Given the description of an element on the screen output the (x, y) to click on. 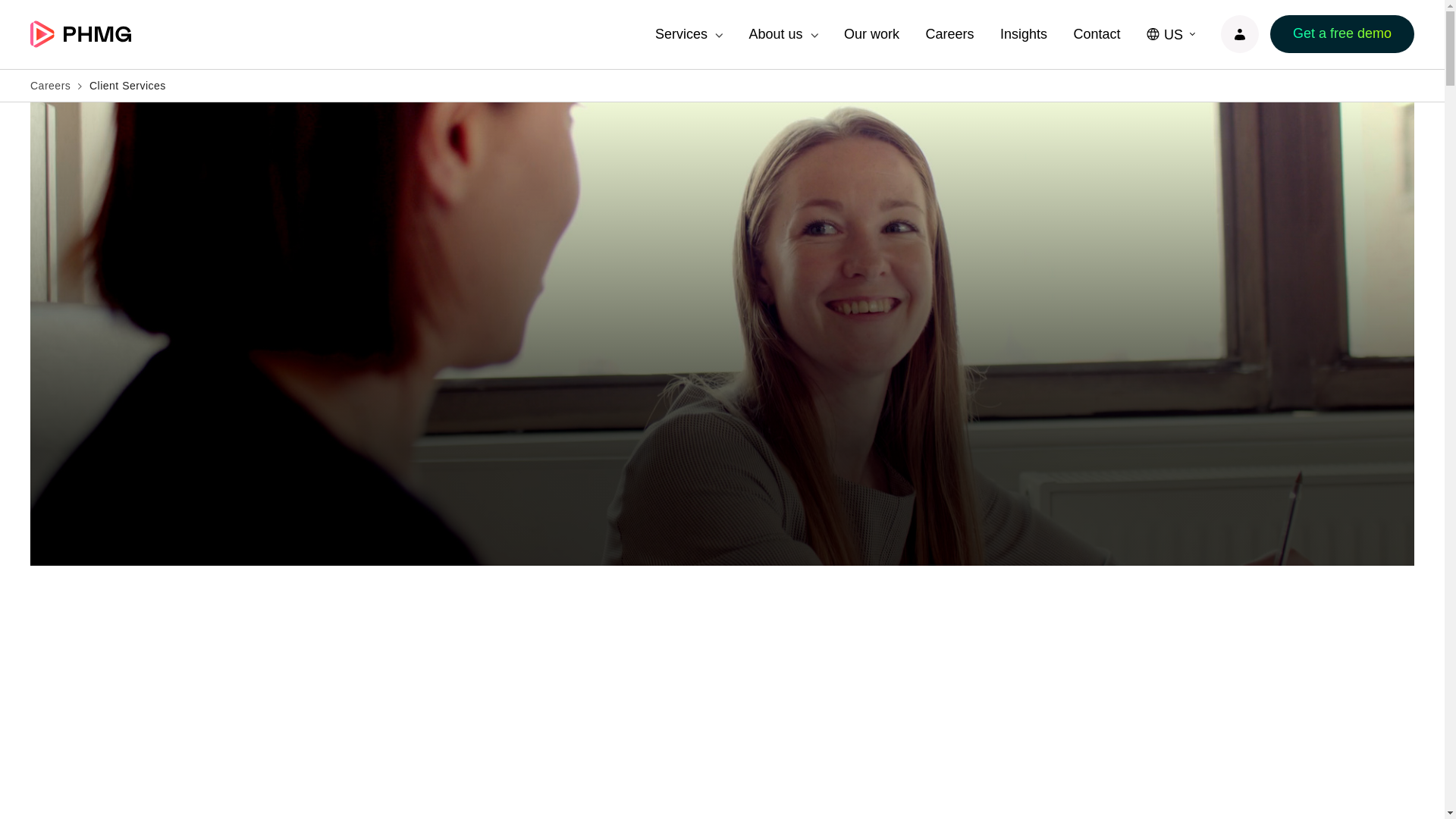
Client Services (126, 85)
About us (776, 34)
Careers (950, 34)
Insights (1023, 34)
Our work (871, 34)
Careers (49, 85)
Contact (1097, 34)
US (1179, 34)
PHMG (80, 33)
Services (681, 34)
